Given the description of an element on the screen output the (x, y) to click on. 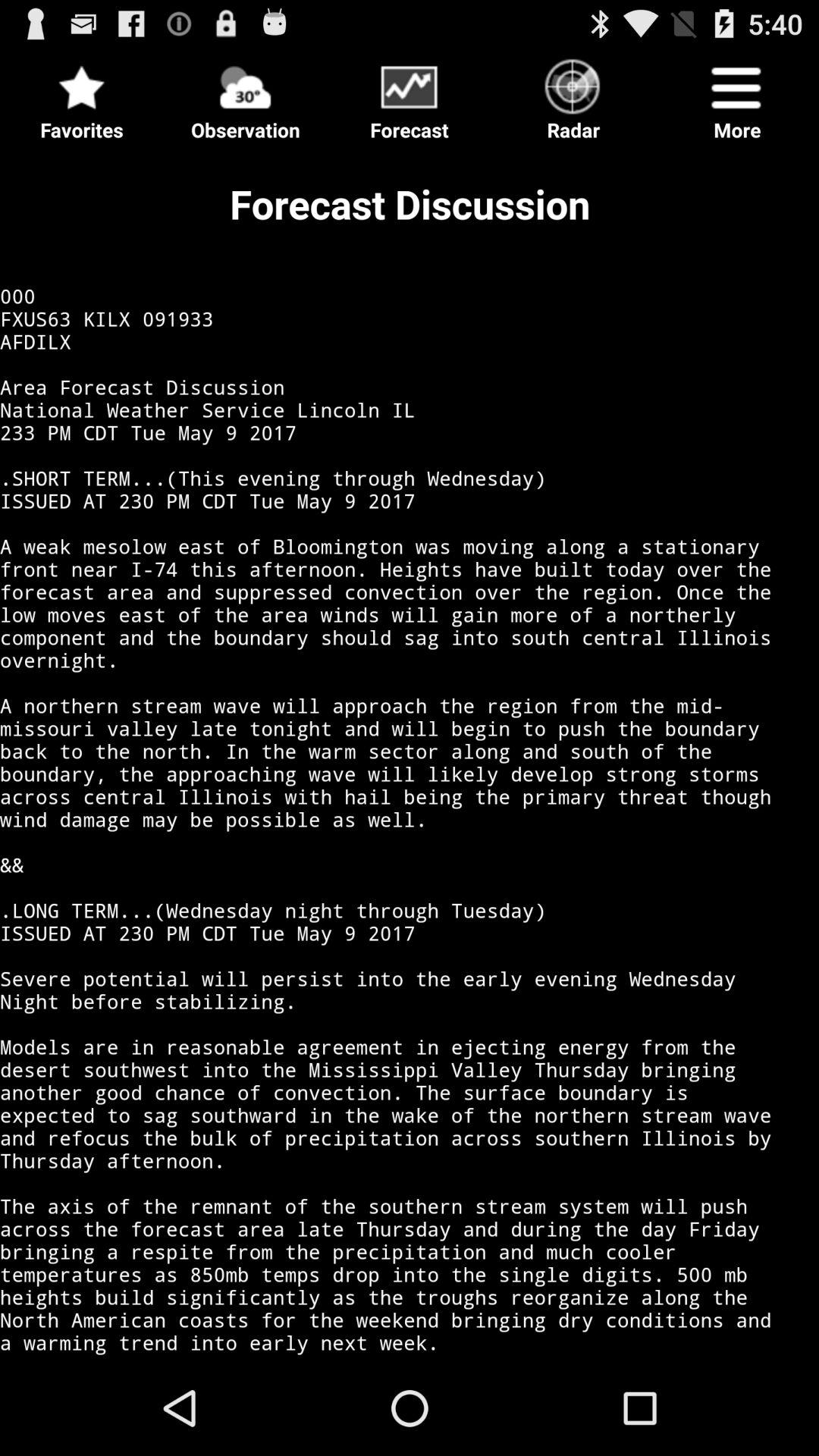
forecast discussion (409, 97)
